Given the description of an element on the screen output the (x, y) to click on. 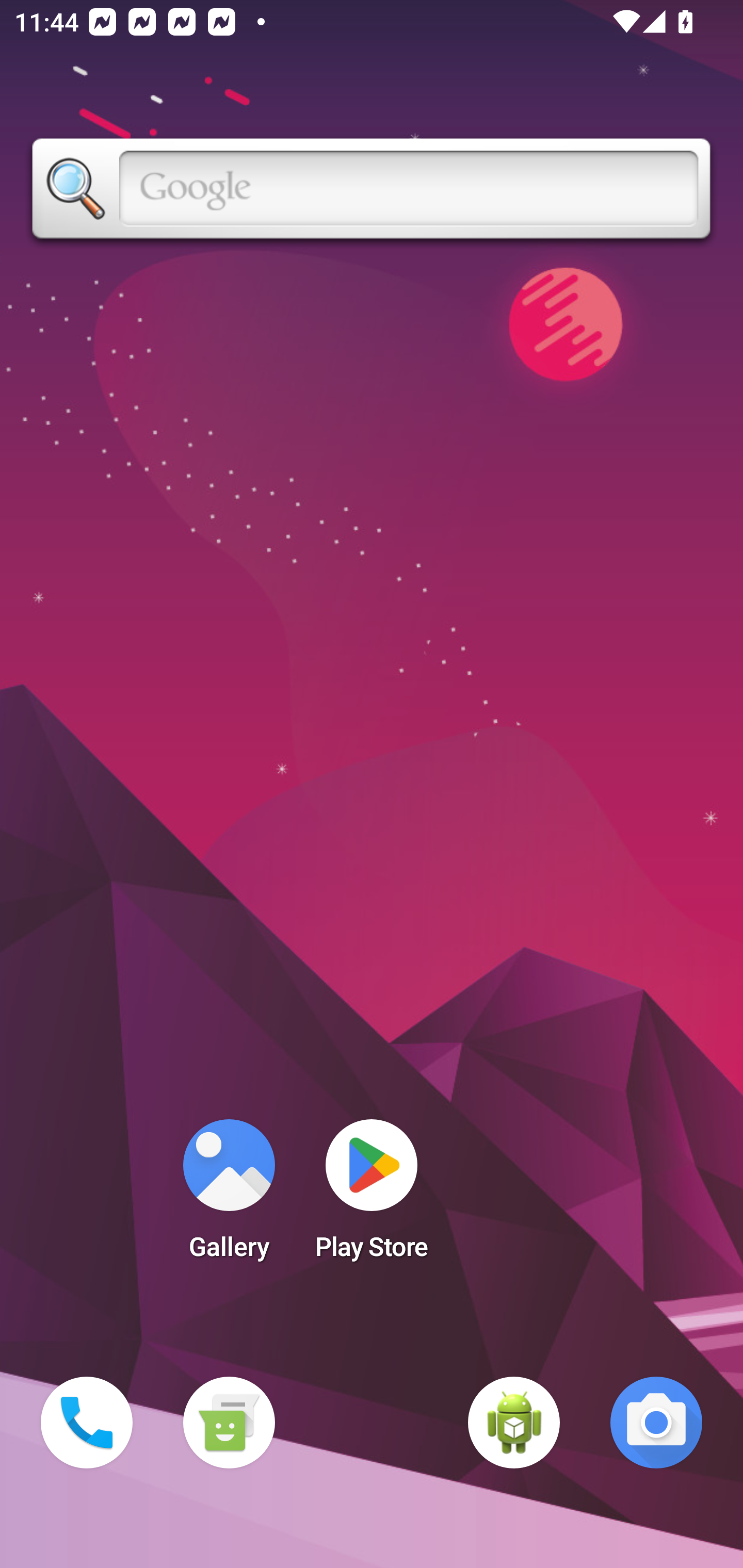
Gallery (228, 1195)
Play Store (371, 1195)
Phone (86, 1422)
Messaging (228, 1422)
WebView Browser Tester (513, 1422)
Camera (656, 1422)
